Given the description of an element on the screen output the (x, y) to click on. 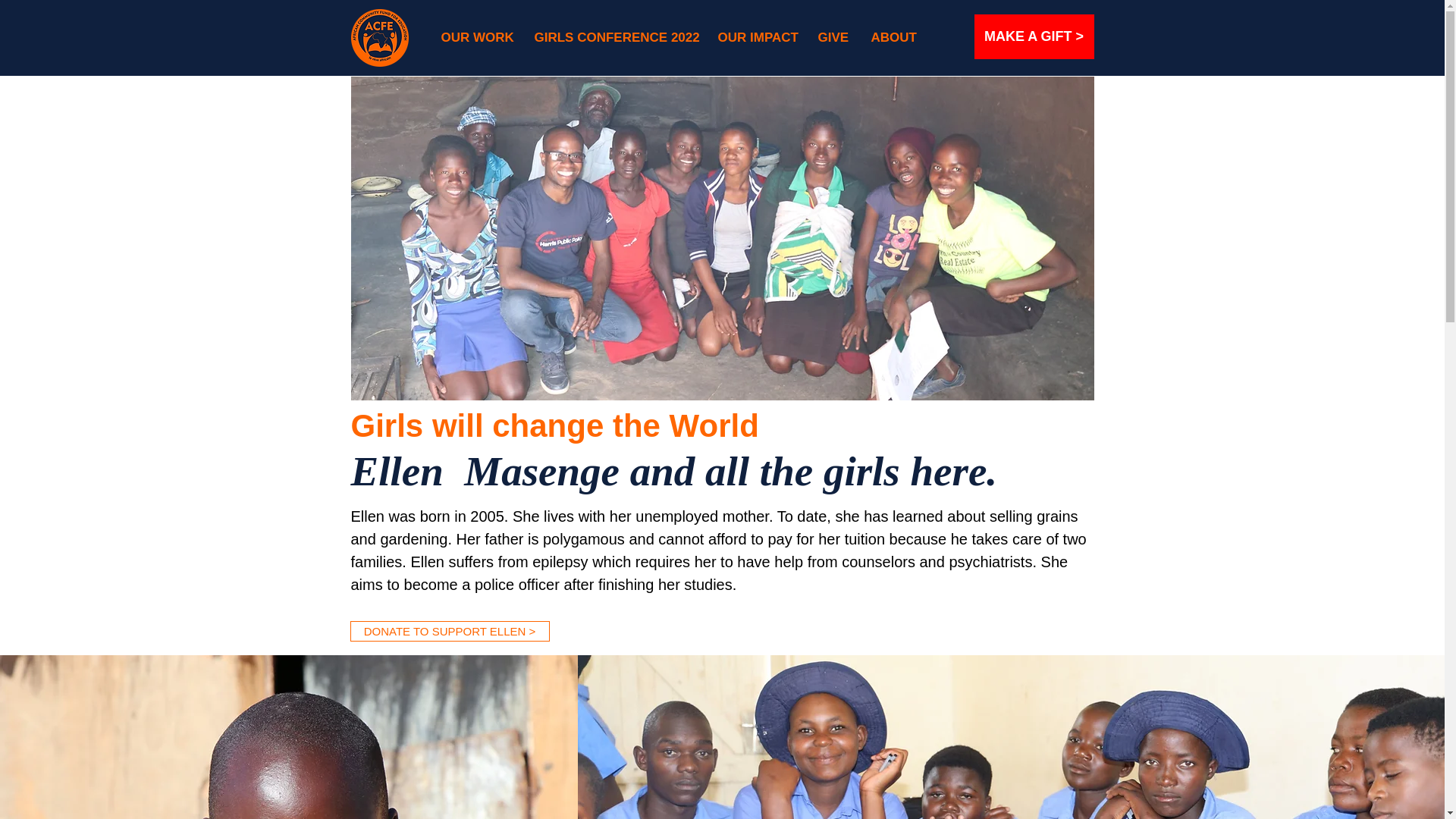
HOME (378, 37)
GIRLS CONFERENCE 2022 (614, 37)
ABOUT (893, 37)
OUR IMPACT (756, 37)
Embedded Content (474, 59)
Embedded Content (1158, 31)
GIVE (833, 37)
